Given the description of an element on the screen output the (x, y) to click on. 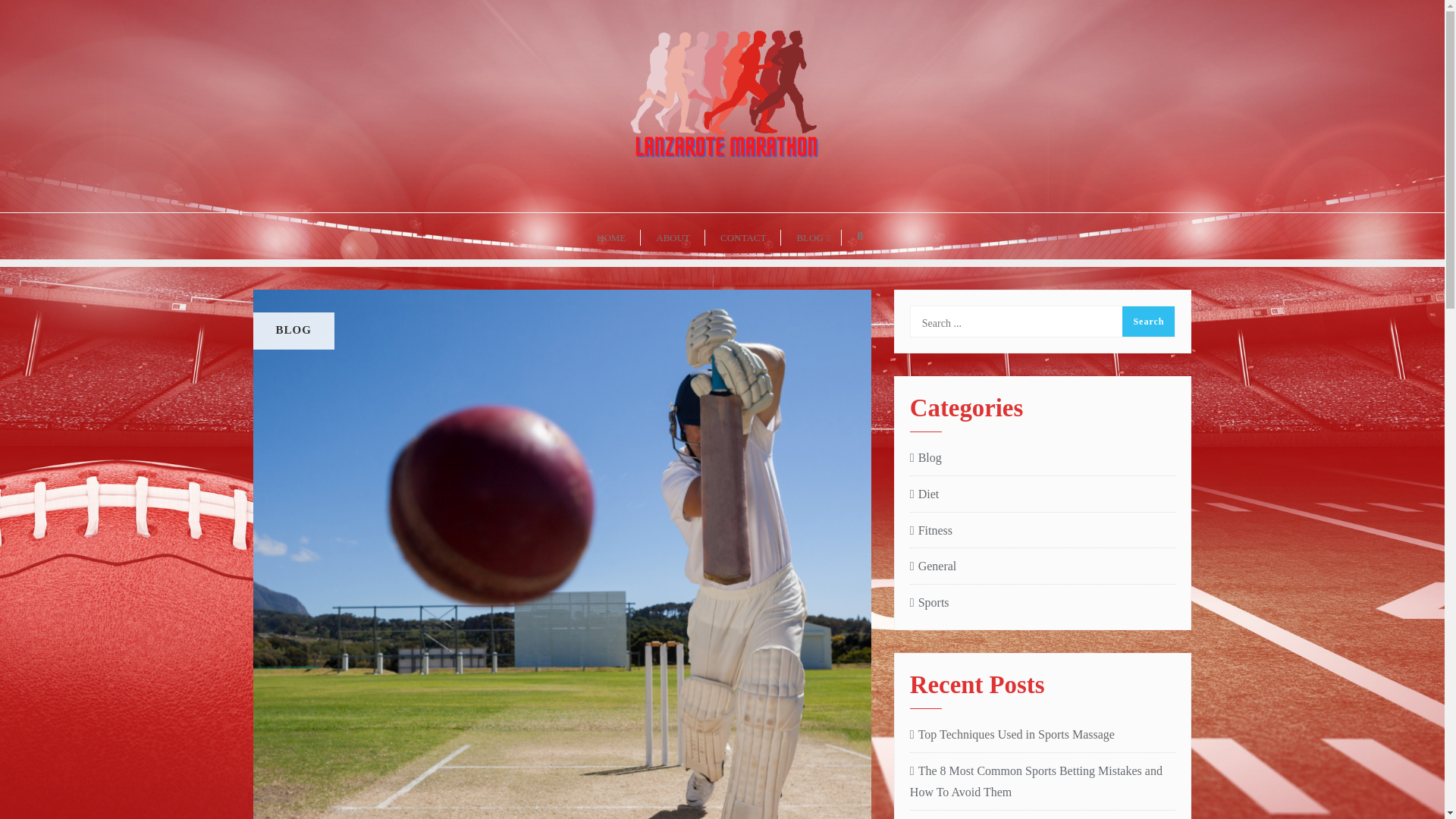
BLOG (810, 235)
Sports (929, 603)
Search (1148, 321)
General (933, 567)
Top Techniques Used in Sports Massage (1043, 734)
ABOUT (672, 235)
Search (1148, 321)
Fitness (931, 531)
HOME (610, 235)
Blog (926, 458)
Search (1148, 321)
CONTACT (742, 235)
